Given the description of an element on the screen output the (x, y) to click on. 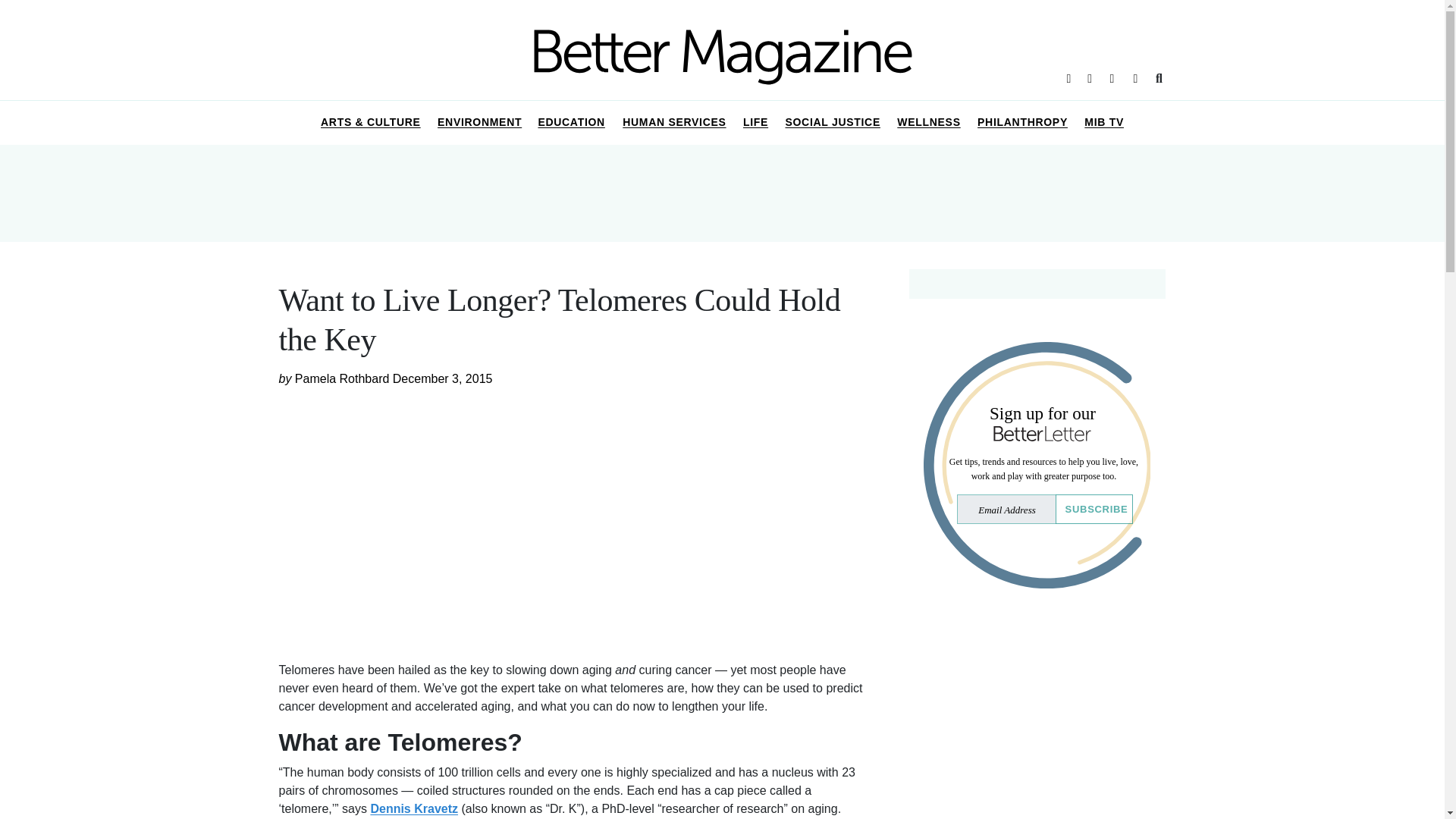
ENVIRONMENT (480, 122)
PHILANTHROPY (1022, 122)
MIB TV (1103, 122)
HUMAN SERVICES (674, 122)
WELLNESS (928, 122)
EDUCATION (571, 122)
Dennis Kravetz (413, 808)
by Pamela Rothbard (336, 378)
LIFE (756, 122)
SOCIAL JUSTICE (832, 122)
